Given the description of an element on the screen output the (x, y) to click on. 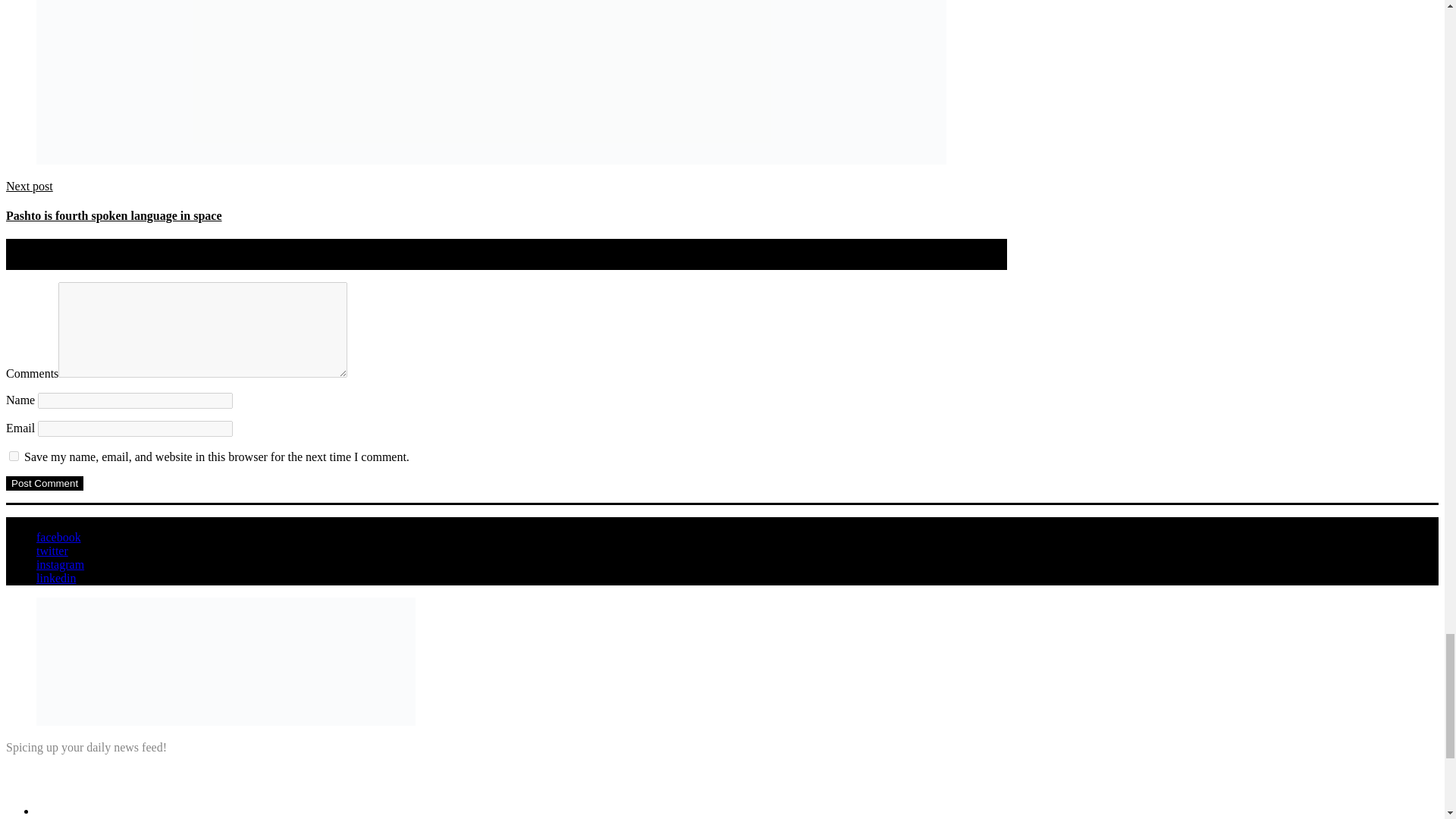
Post Comment (43, 482)
yes (13, 456)
